Given the description of an element on the screen output the (x, y) to click on. 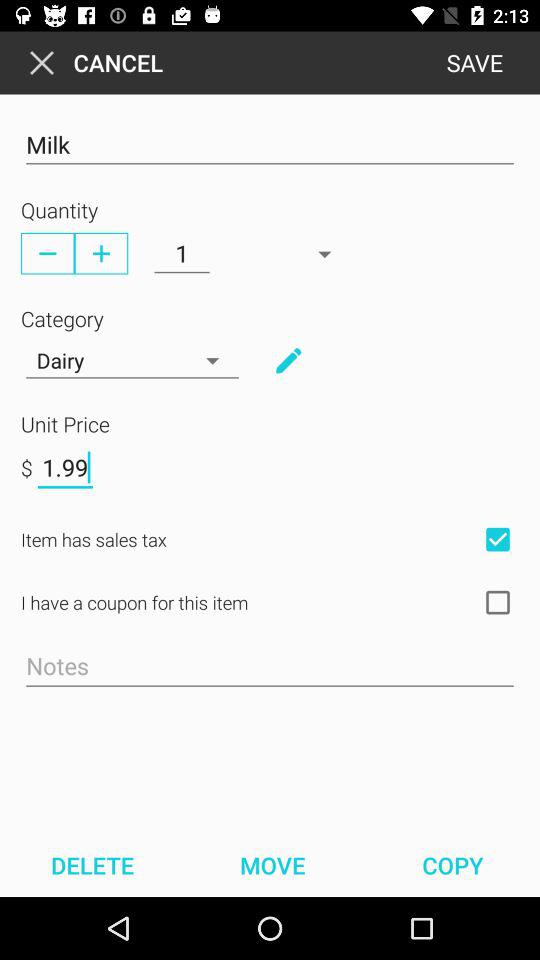
pencil icon (288, 360)
